Given the description of an element on the screen output the (x, y) to click on. 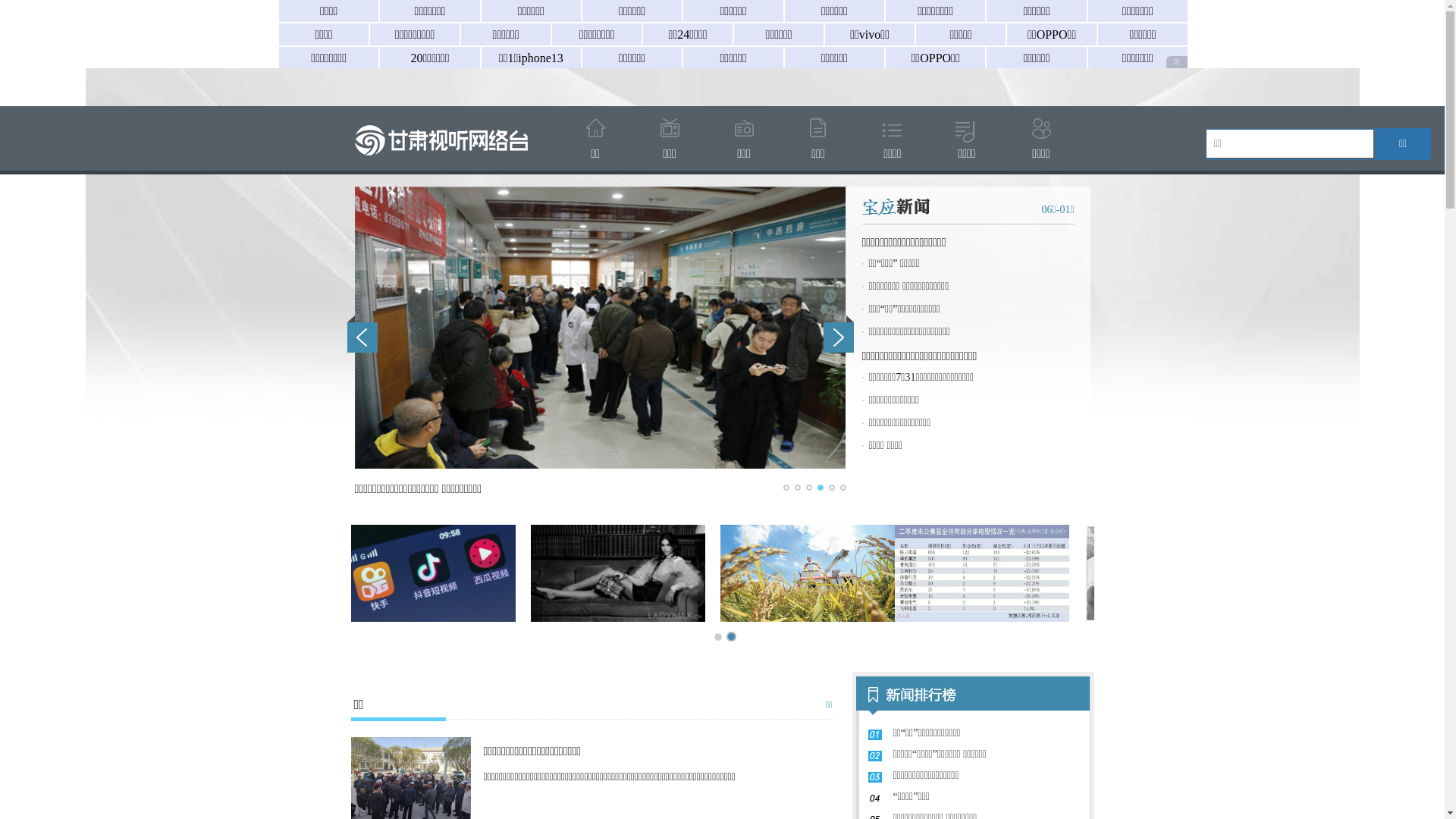
6 Element type: text (843, 487)
5 Element type: text (831, 487)
4 Element type: text (820, 487)
2 Element type: text (797, 487)
1 Element type: text (785, 487)
3 Element type: text (808, 487)
